Given the description of an element on the screen output the (x, y) to click on. 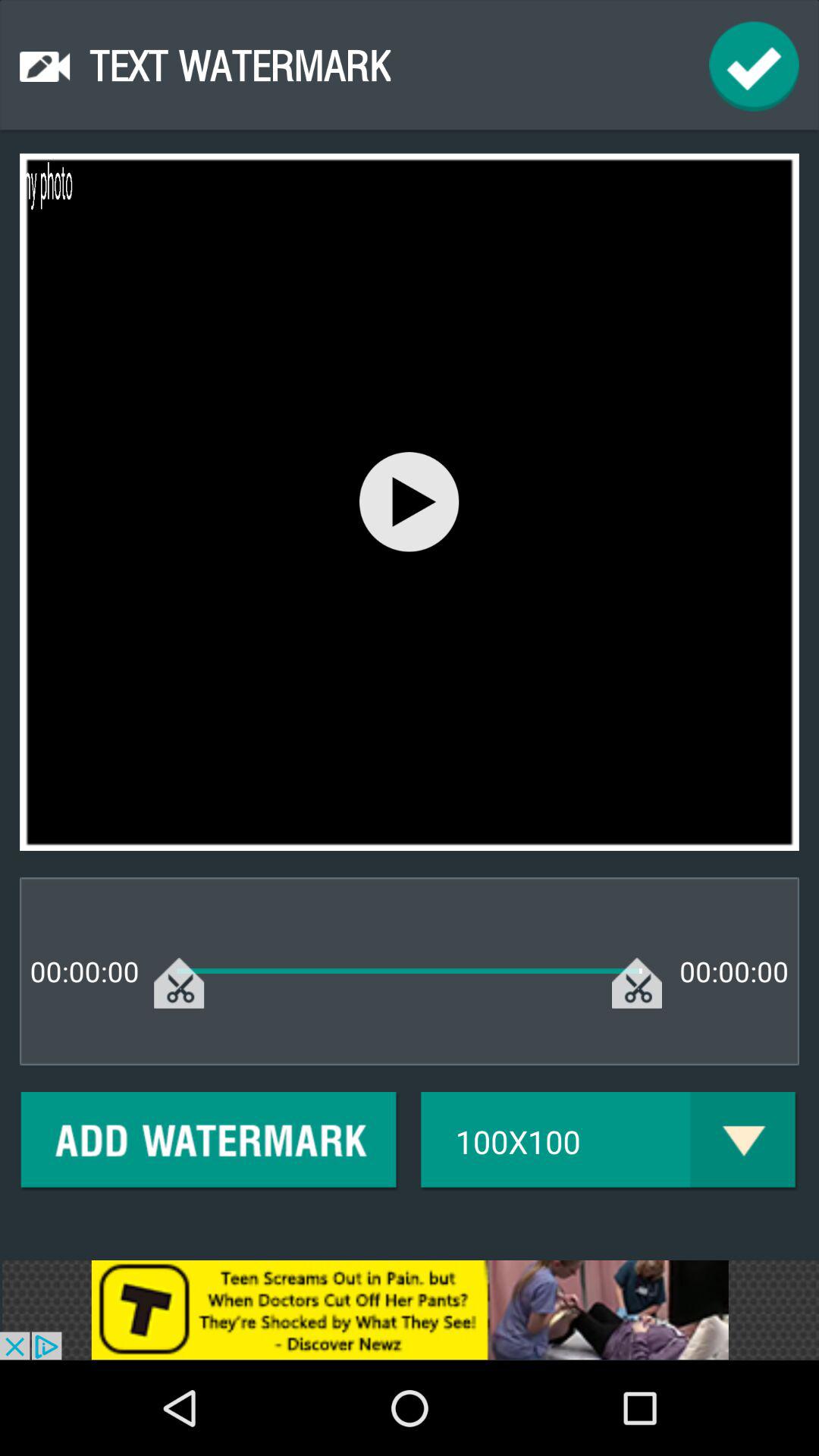
ok (754, 66)
